Given the description of an element on the screen output the (x, y) to click on. 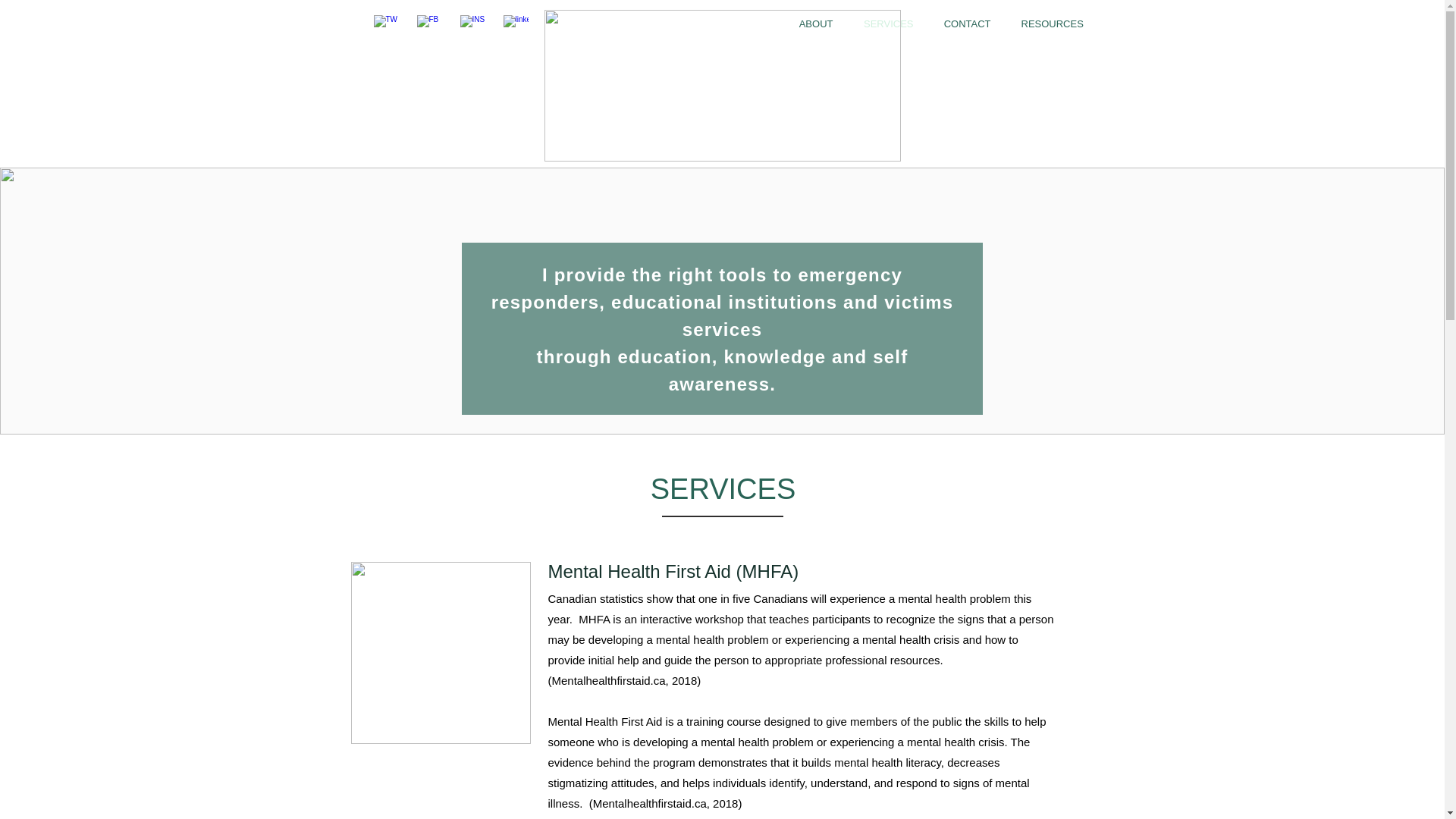
ABOUT (816, 23)
SERVICES (887, 23)
CONTACT (967, 23)
RESOURCES (1051, 23)
